Given the description of an element on the screen output the (x, y) to click on. 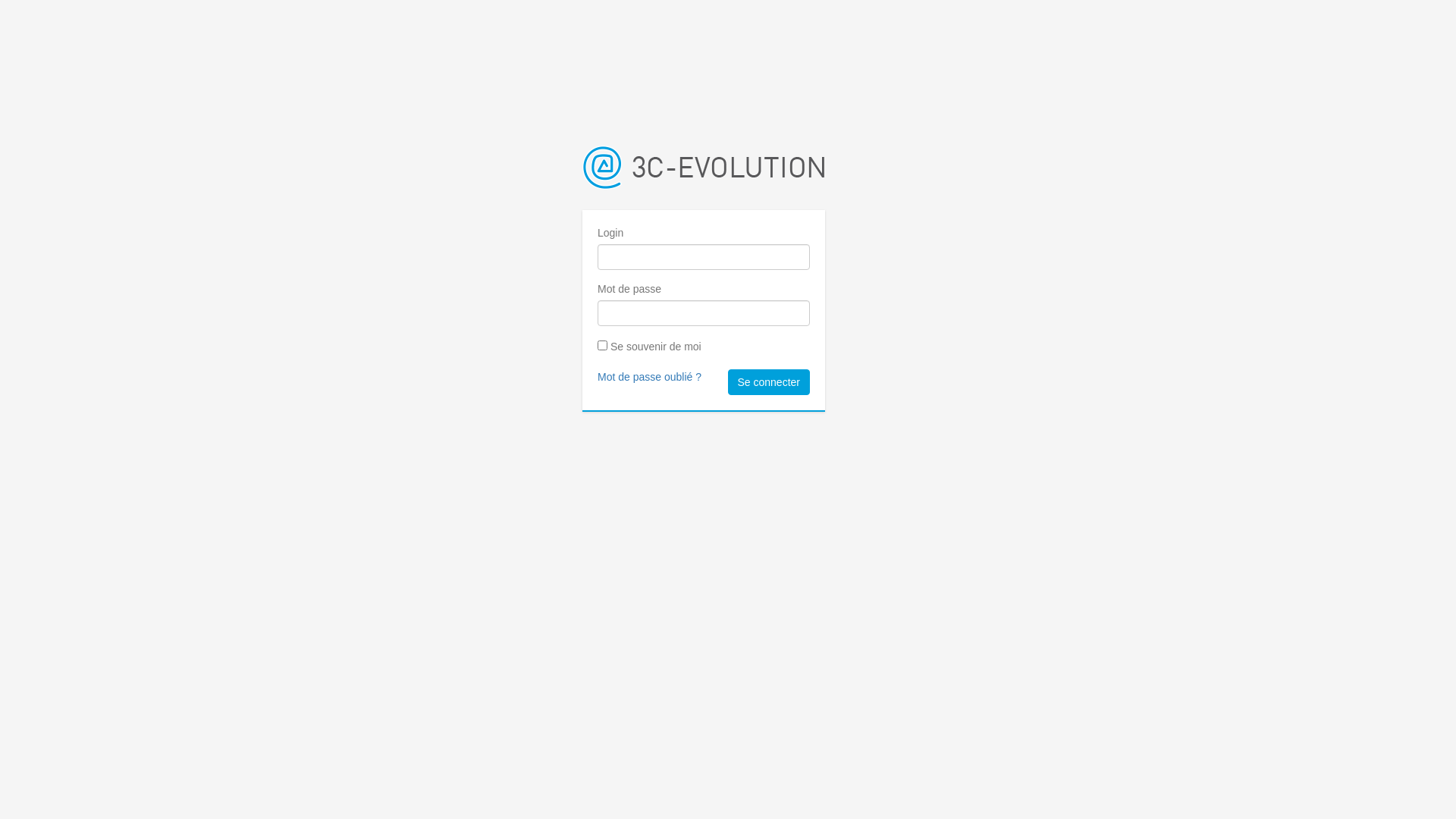
Se connecter Element type: text (769, 382)
3c-evolution Element type: hover (703, 168)
